Given the description of an element on the screen output the (x, y) to click on. 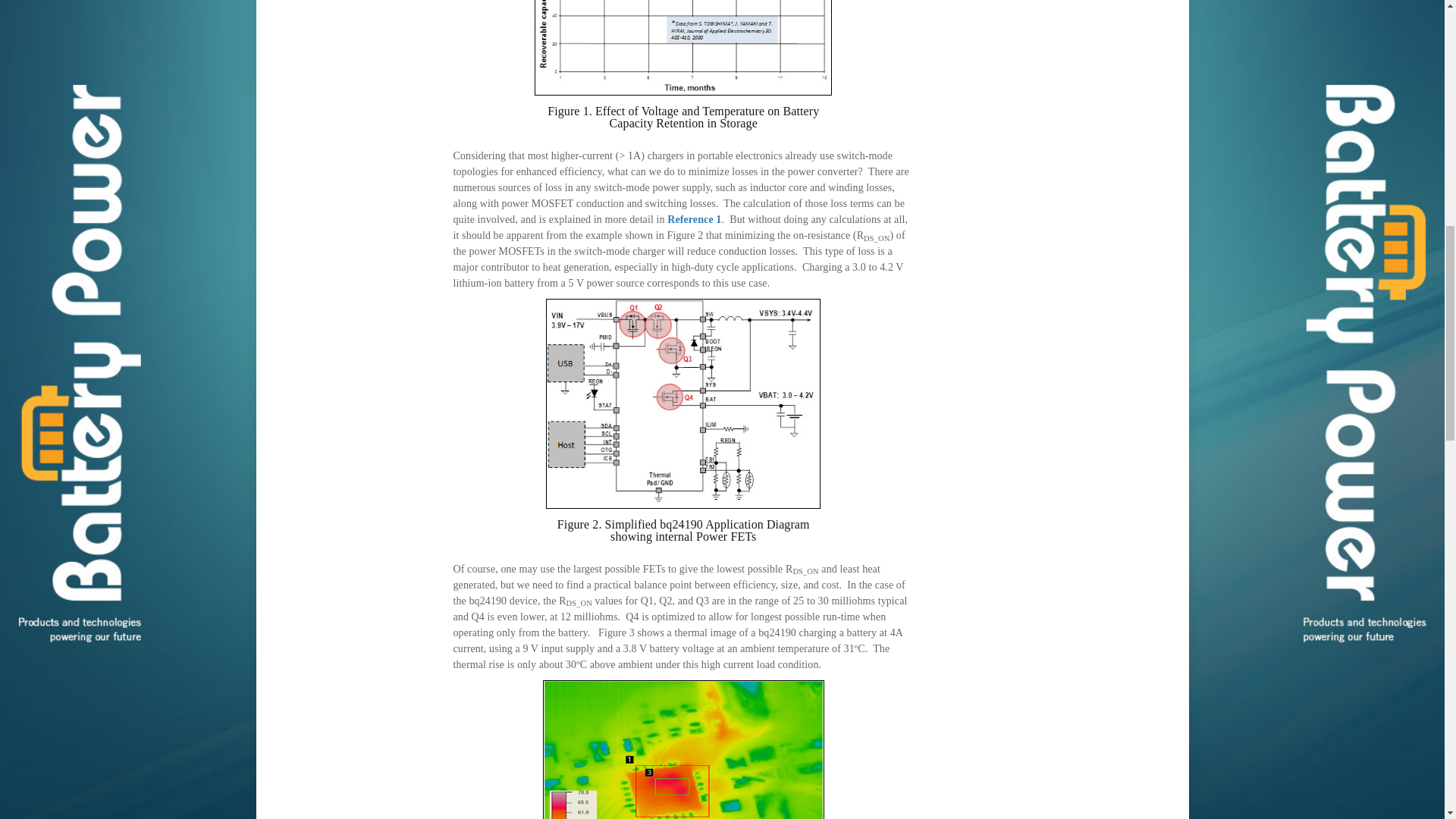
ti1 (682, 47)
ti3 (683, 749)
ti2 (683, 403)
